Given the description of an element on the screen output the (x, y) to click on. 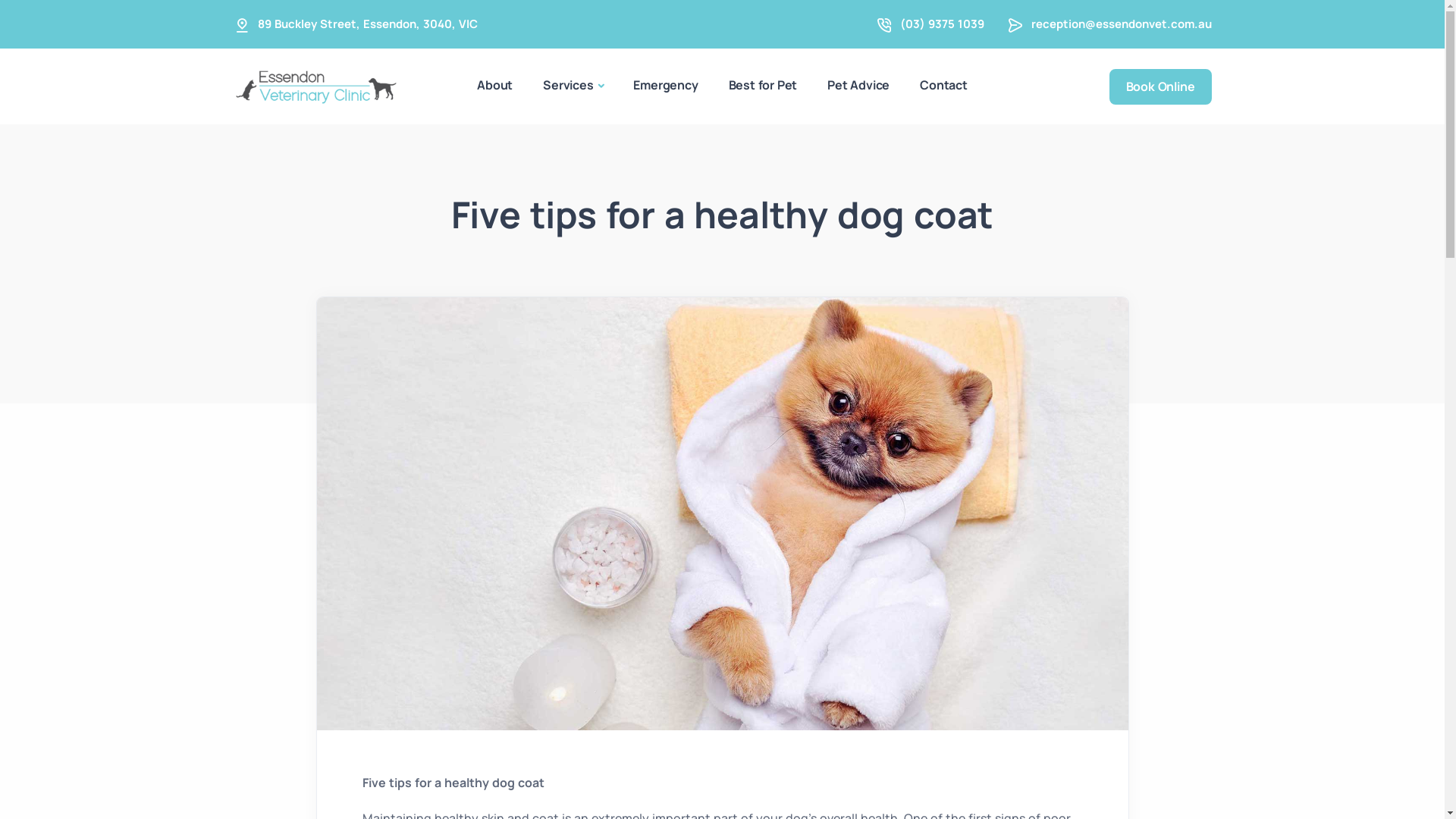
reception@essendonvet.com.au Element type: text (1121, 23)
89 Buckley Street, Essendon, 3040, VIC Element type: text (367, 23)
Pet Advice Element type: text (858, 84)
Emergency Element type: text (665, 84)
Book Online Element type: text (1160, 86)
Best for Pet Element type: text (762, 84)
(03) 9375 1039 Element type: text (941, 23)
Contact Element type: text (943, 84)
Services Element type: text (572, 86)
About Element type: text (494, 84)
